Given the description of an element on the screen output the (x, y) to click on. 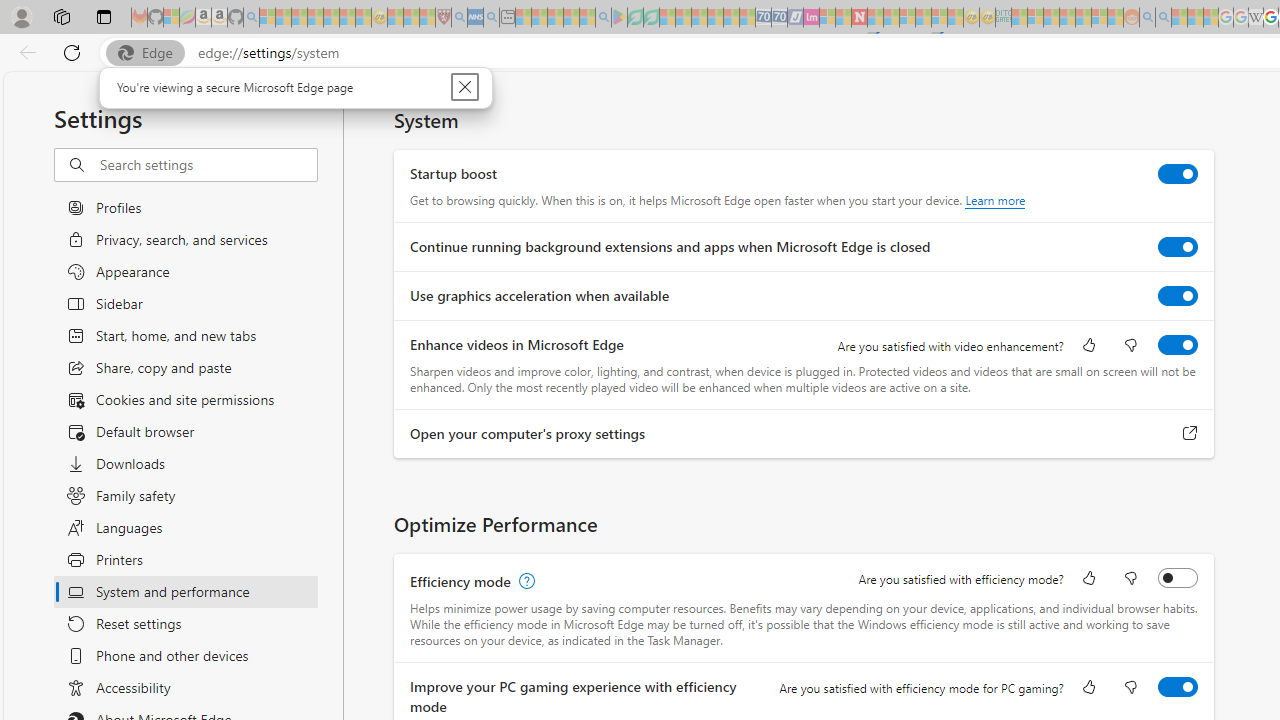
Pets - MSN - Sleeping (571, 17)
Use graphics acceleration when available (1178, 295)
Startup boost (1178, 174)
Efficiency mode (1178, 578)
